Given the description of an element on the screen output the (x, y) to click on. 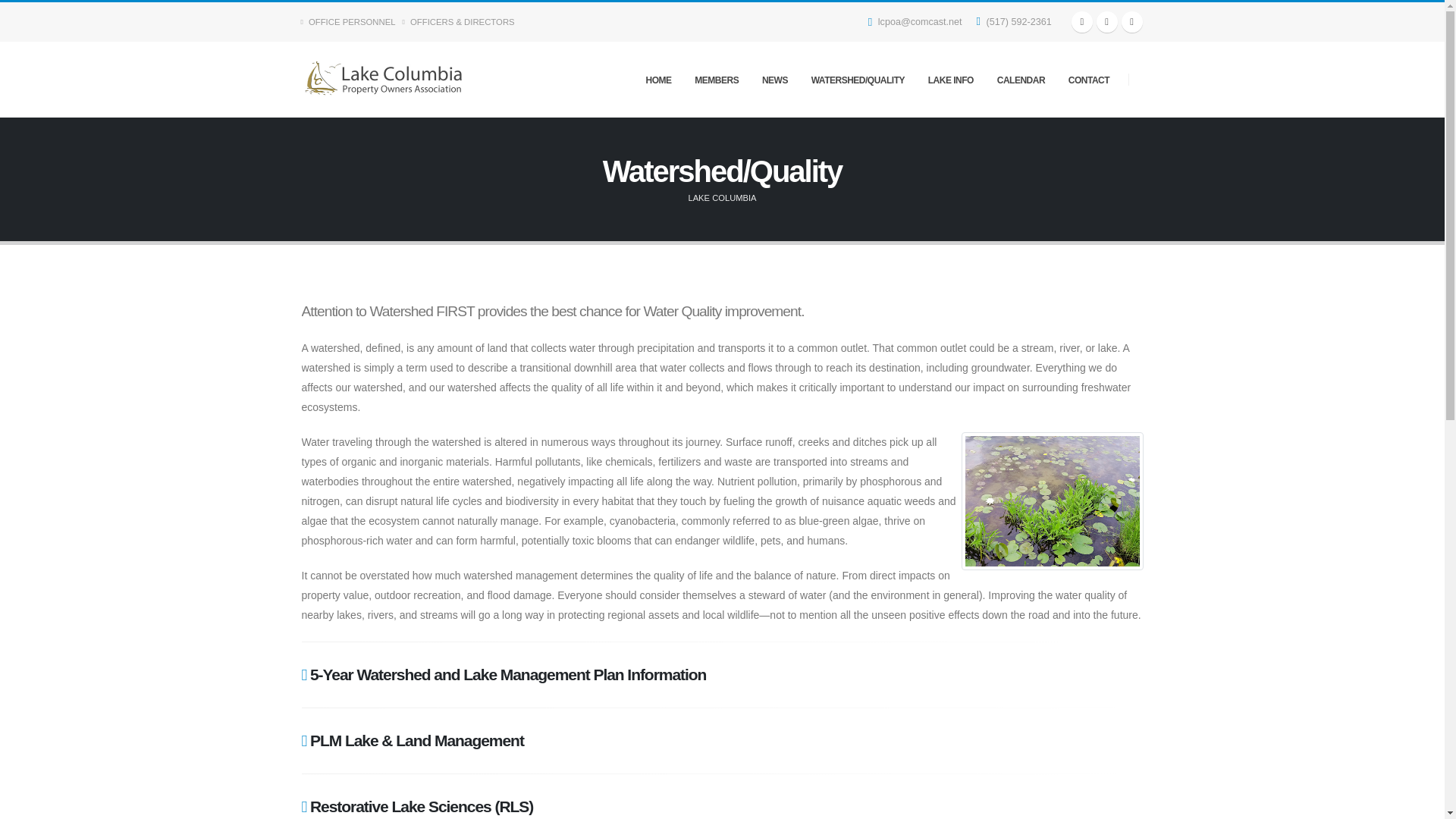
LAKE INFO (950, 79)
OFFICE PERSONNEL (352, 22)
Newsletters (1107, 21)
CALENDAR (1020, 79)
Facebook (1131, 21)
Calendar (1082, 21)
